Given the description of an element on the screen output the (x, y) to click on. 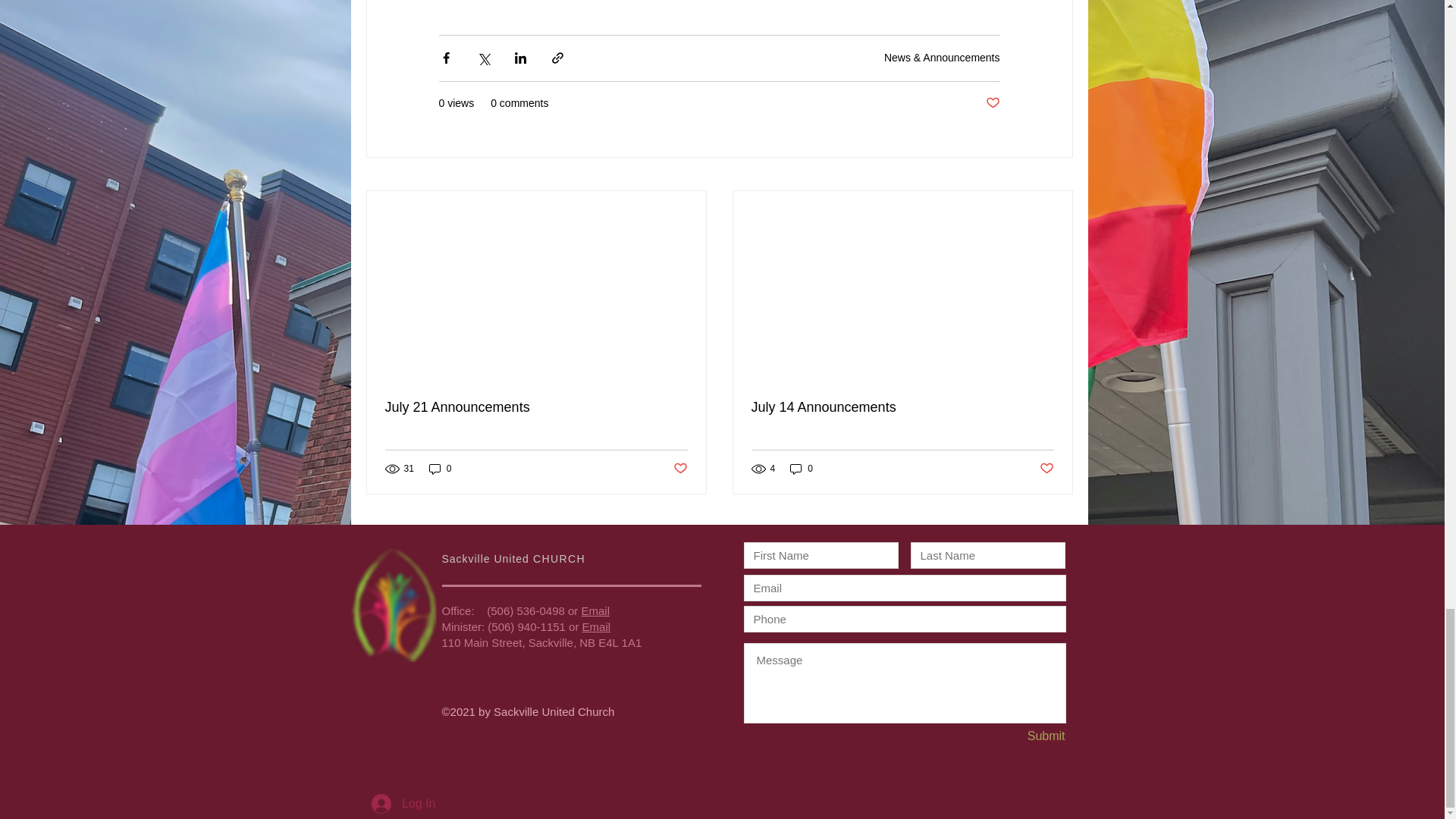
July 21 Announcements (536, 407)
Post not marked as liked (679, 468)
0 (440, 468)
July 14 Announcements (901, 407)
Post not marked as liked (992, 103)
